Given the description of an element on the screen output the (x, y) to click on. 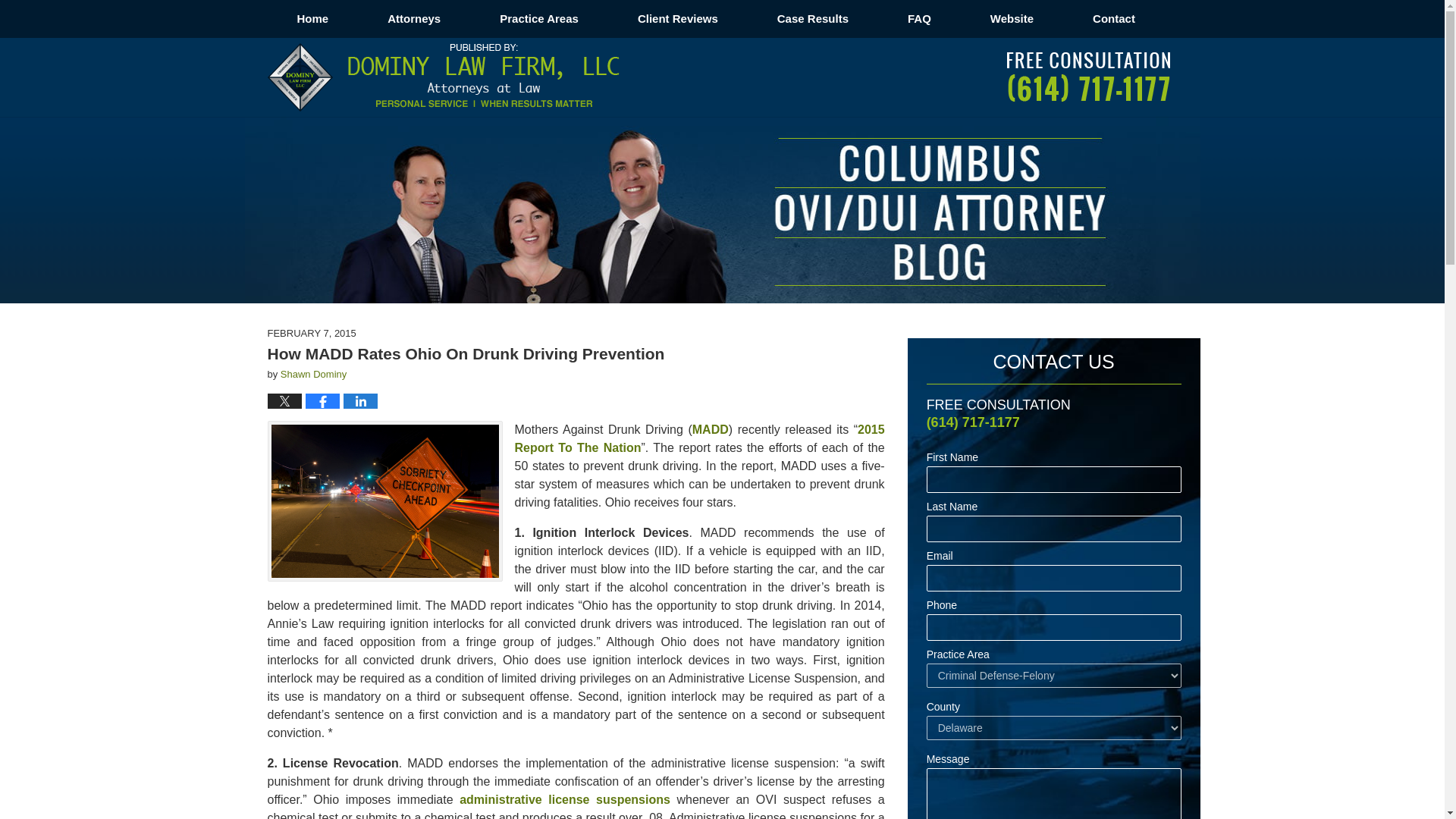
Please enter a valid phone number. (1053, 627)
Website (1011, 18)
Home (312, 18)
Attorneys (414, 18)
Practice Areas (539, 18)
Case Results (812, 18)
FAQ (918, 18)
Client Reviews (678, 18)
administrative license suspensions (564, 799)
Published By Dominy Law Firm, LLC (1088, 76)
